Given the description of an element on the screen output the (x, y) to click on. 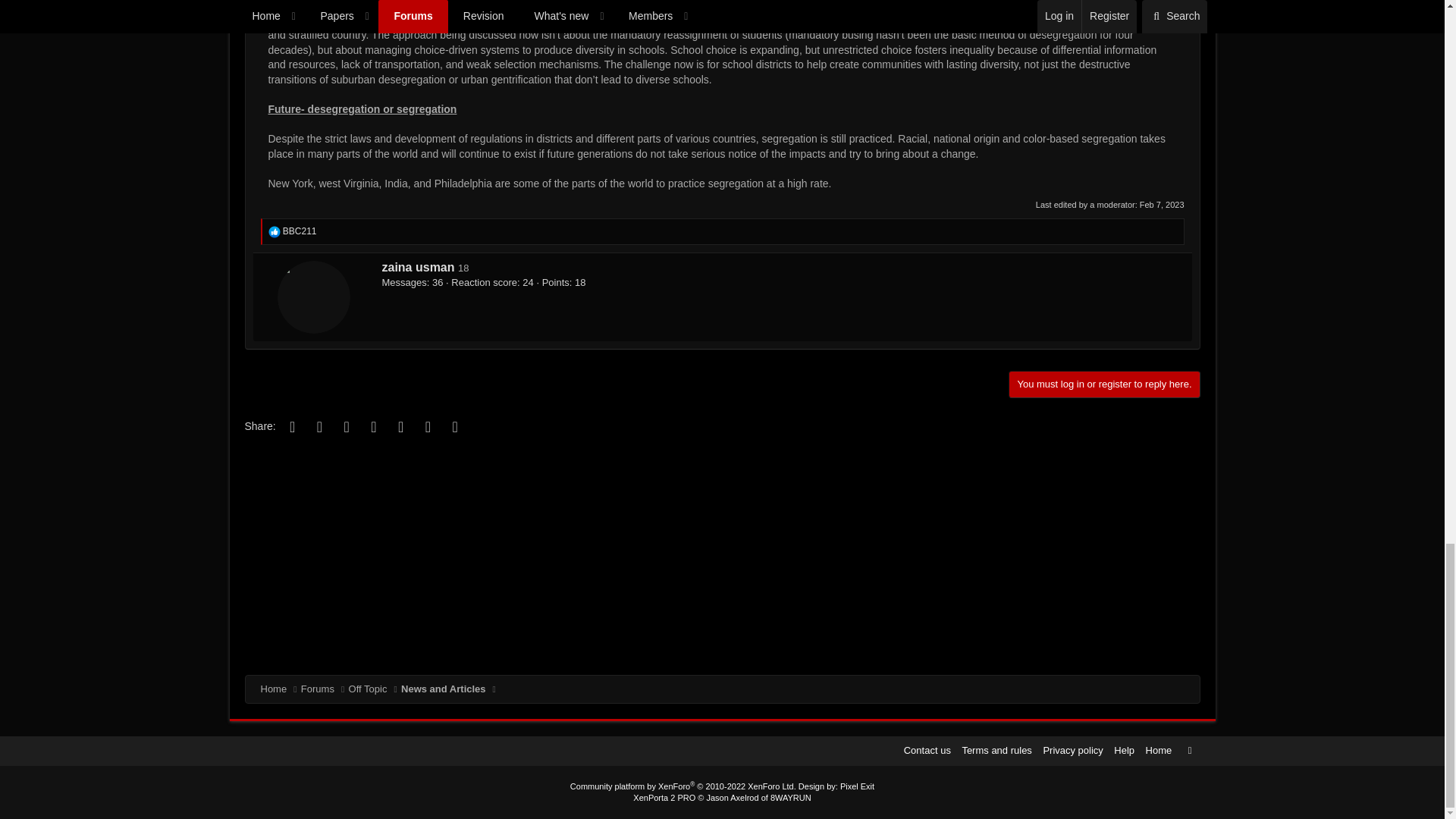
RSS (1189, 749)
Feb 7, 2023 at 10:07 PM (1162, 204)
Like (274, 232)
